Given the description of an element on the screen output the (x, y) to click on. 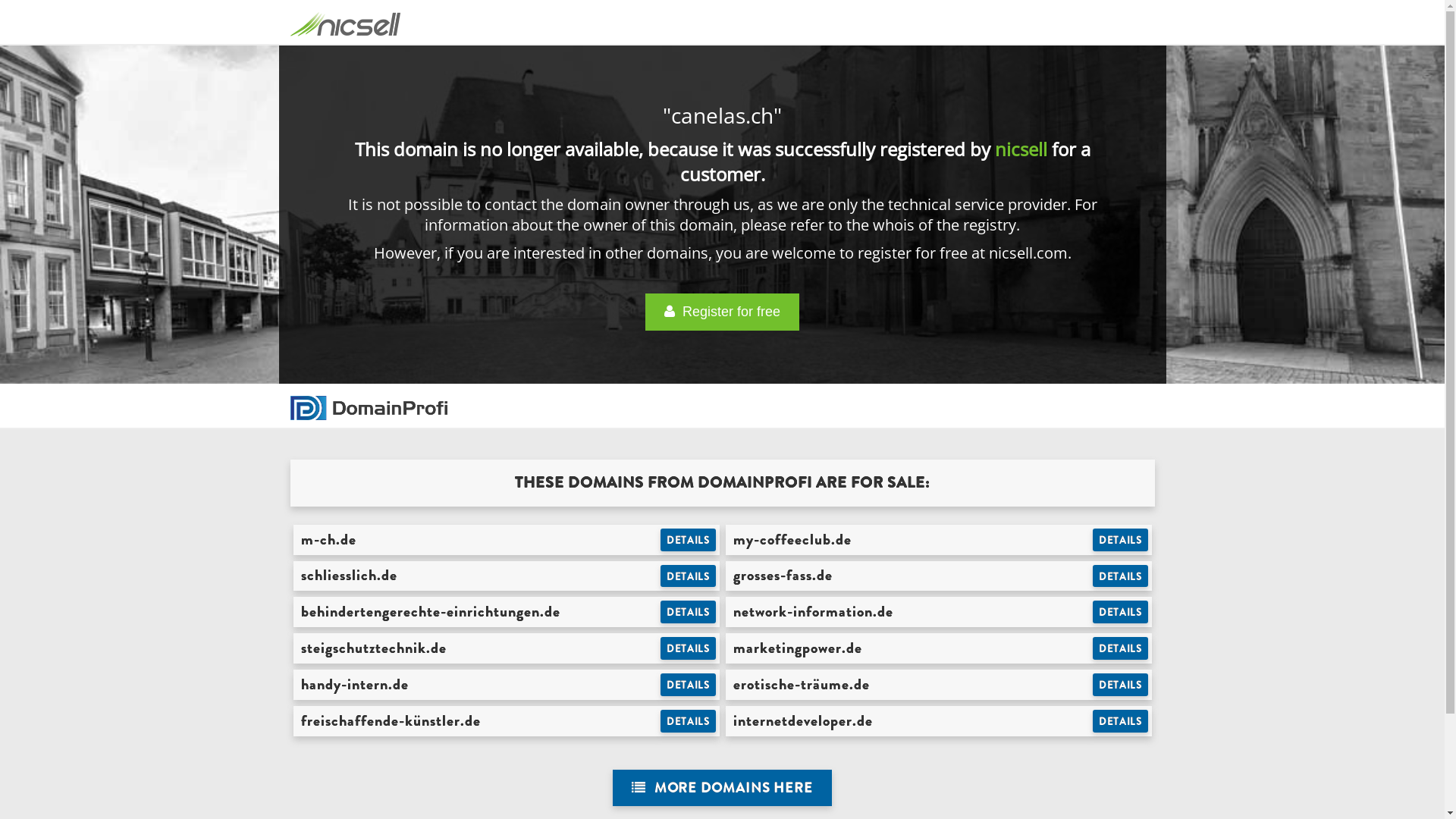
  Register for free Element type: text (722, 311)
DETAILS Element type: text (1120, 611)
DETAILS Element type: text (1120, 539)
DETAILS Element type: text (687, 684)
DETAILS Element type: text (687, 575)
DETAILS Element type: text (1120, 648)
DETAILS Element type: text (687, 539)
DETAILS Element type: text (687, 611)
  MORE DOMAINS HERE Element type: text (721, 787)
DETAILS Element type: text (687, 720)
DETAILS Element type: text (687, 648)
DETAILS Element type: text (1120, 720)
DETAILS Element type: text (1120, 575)
DETAILS Element type: text (1120, 684)
nicsell Element type: text (1020, 148)
